Given the description of an element on the screen output the (x, y) to click on. 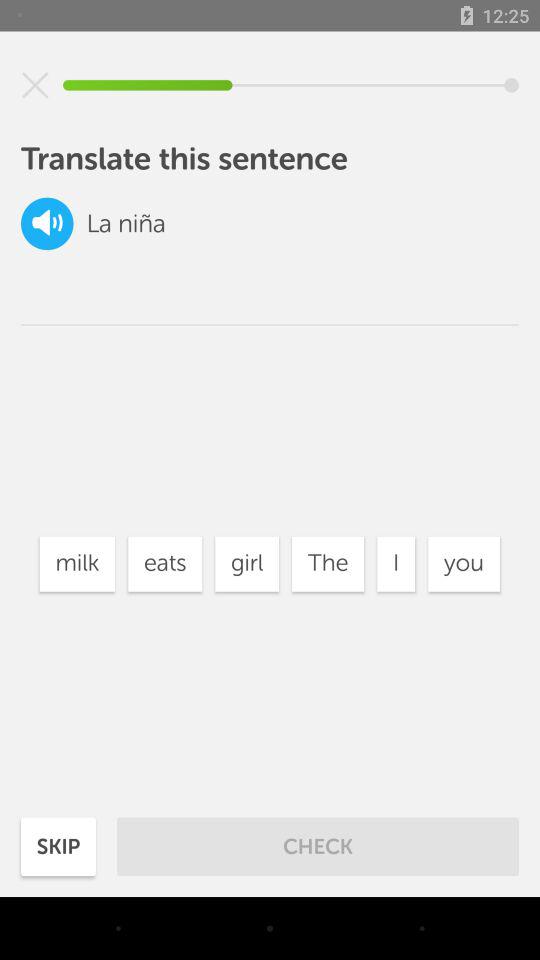
turn on the icon to the right of the the icon (396, 563)
